Given the description of an element on the screen output the (x, y) to click on. 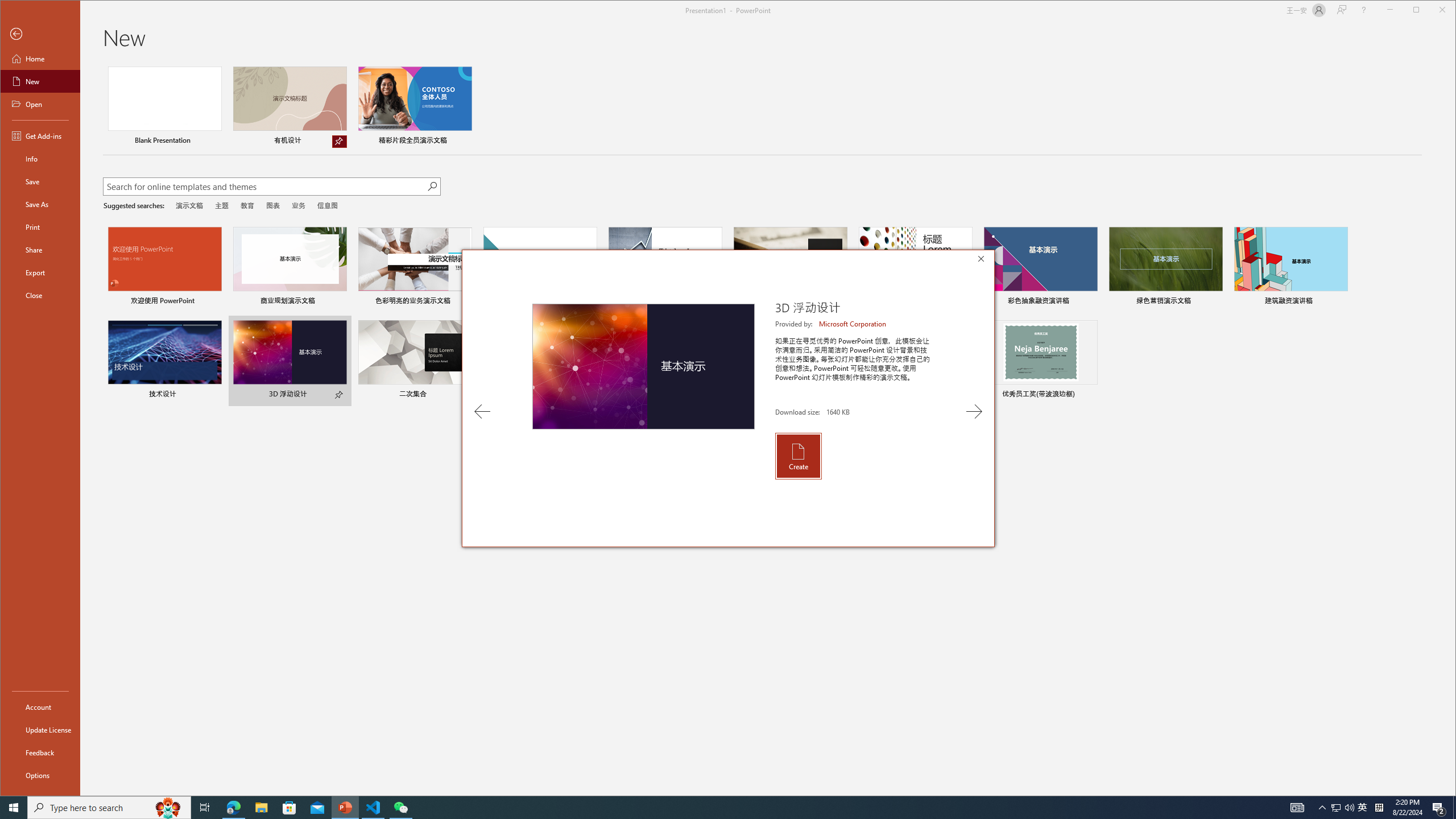
Save As (40, 203)
Microsoft Edge - 1 running window (233, 807)
Feedback (40, 752)
Maximize (1432, 11)
